Given the description of an element on the screen output the (x, y) to click on. 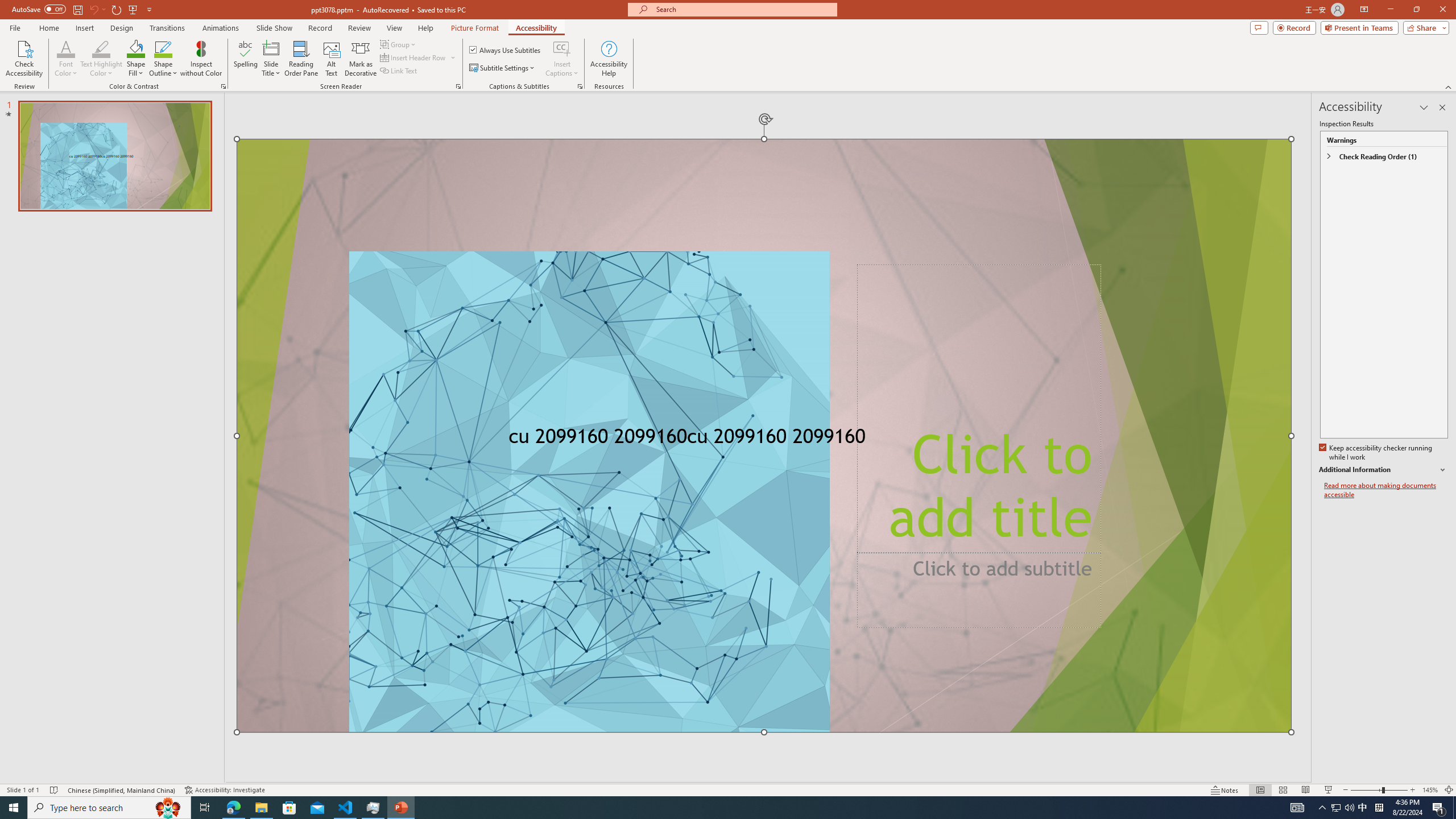
Picture Format (475, 28)
